Given the description of an element on the screen output the (x, y) to click on. 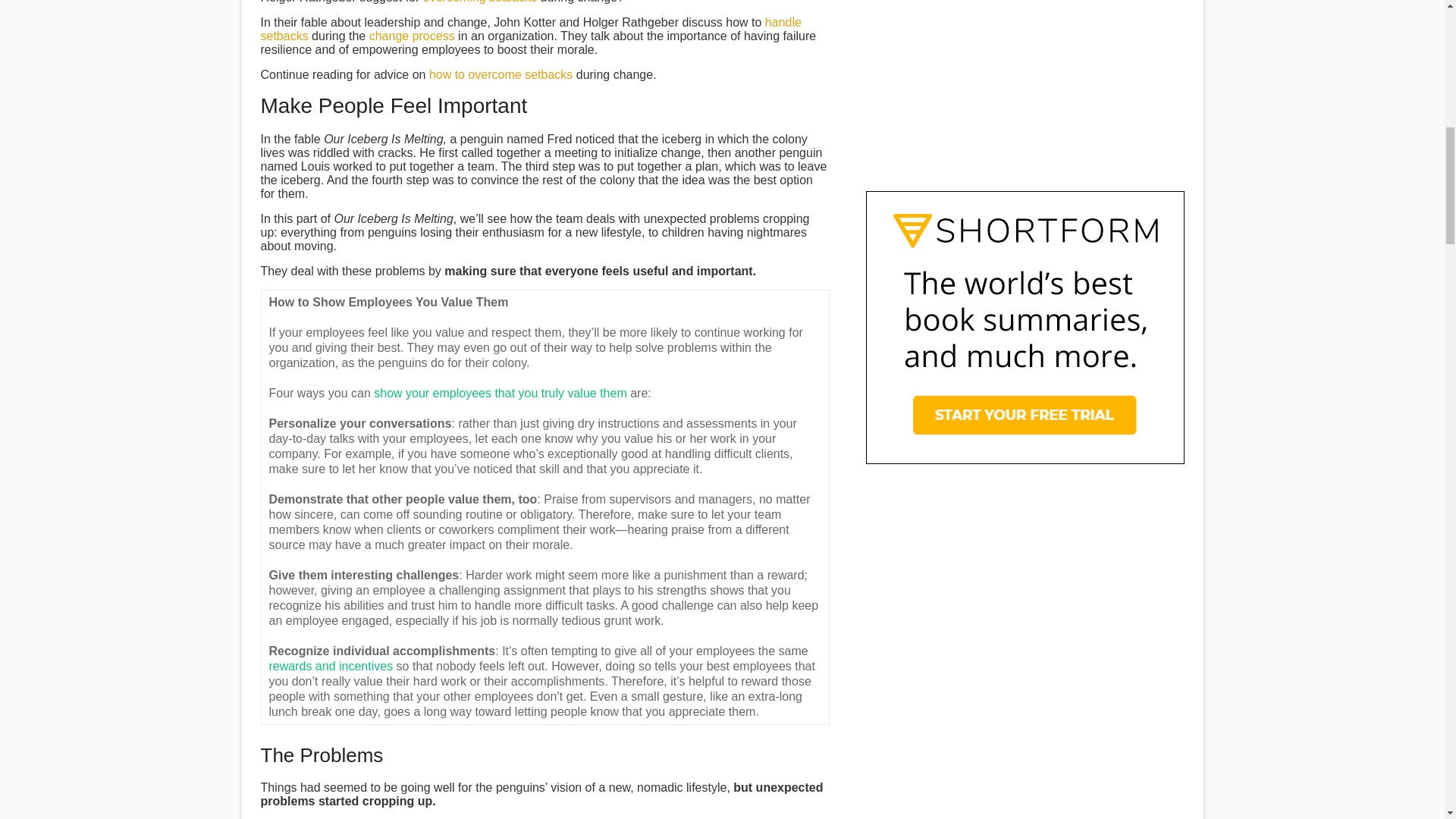
how to overcome setbacks (500, 74)
rewards and incentives (330, 666)
handle setbacks (531, 28)
change process (411, 35)
overcoming setbacks (480, 2)
show your employees that you truly value them (500, 392)
